Given the description of an element on the screen output the (x, y) to click on. 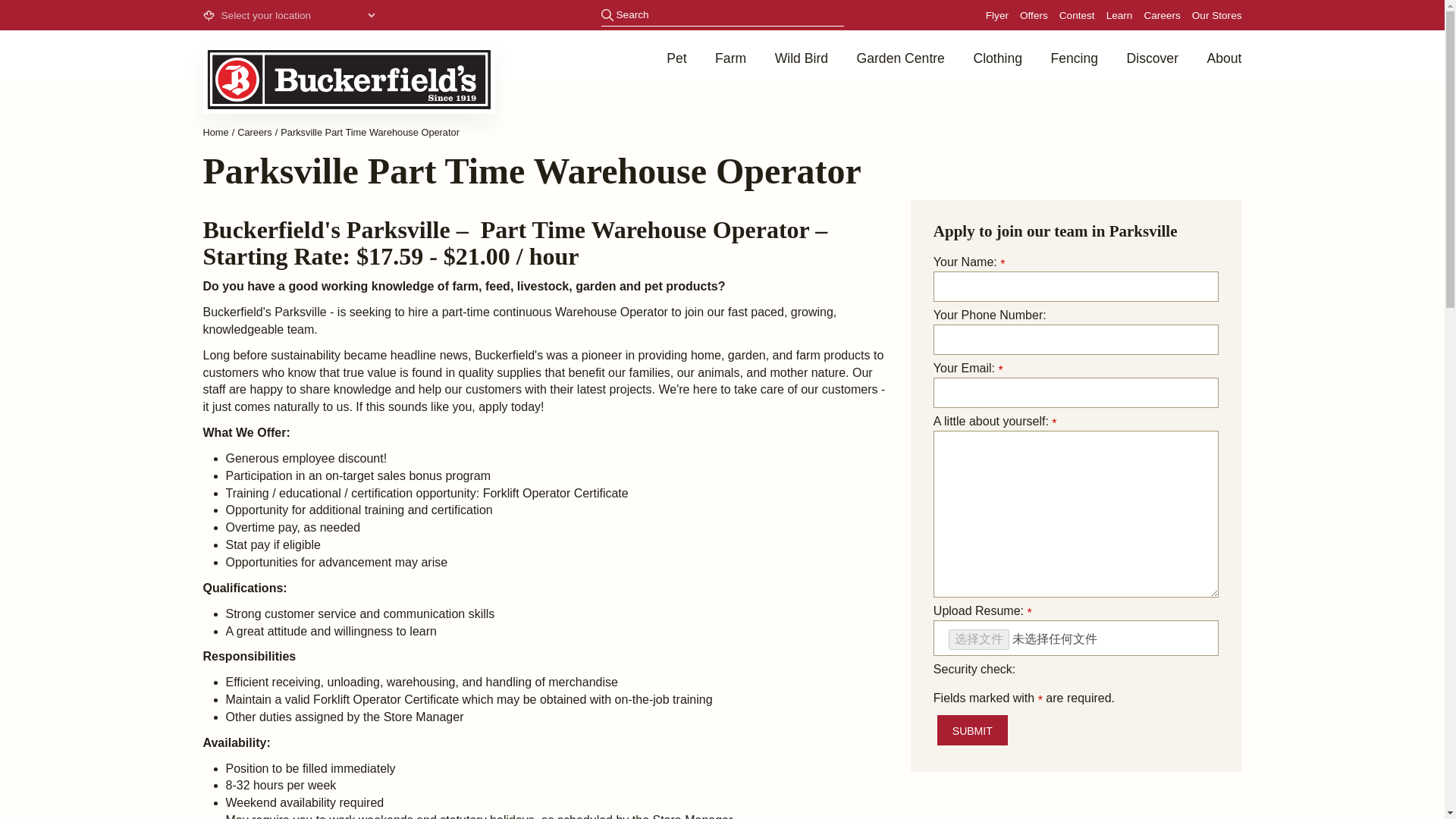
Contest (1076, 15)
Buckerfield's Flyer (997, 15)
Buckerfield's Offers (1034, 15)
Fencing (1073, 56)
Flyer (997, 15)
Submit (972, 729)
Learn (1119, 15)
Home (215, 132)
Offers (1034, 15)
Garden Centre (900, 56)
